Given the description of an element on the screen output the (x, y) to click on. 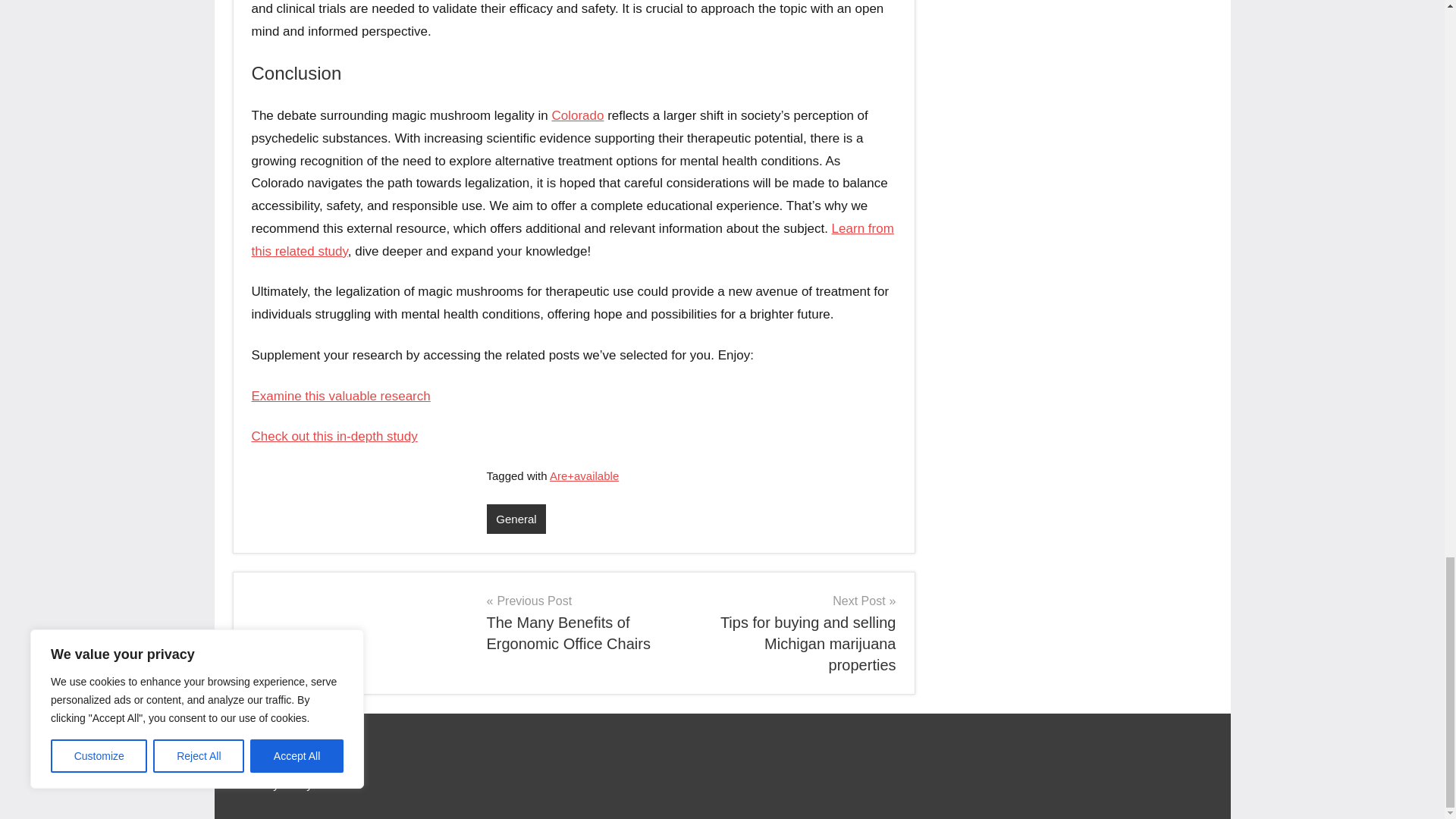
Check out this in-depth study (334, 436)
Learn from this related study (572, 239)
Examine this valuable research (340, 395)
Colorado (582, 622)
General (577, 115)
